Given the description of an element on the screen output the (x, y) to click on. 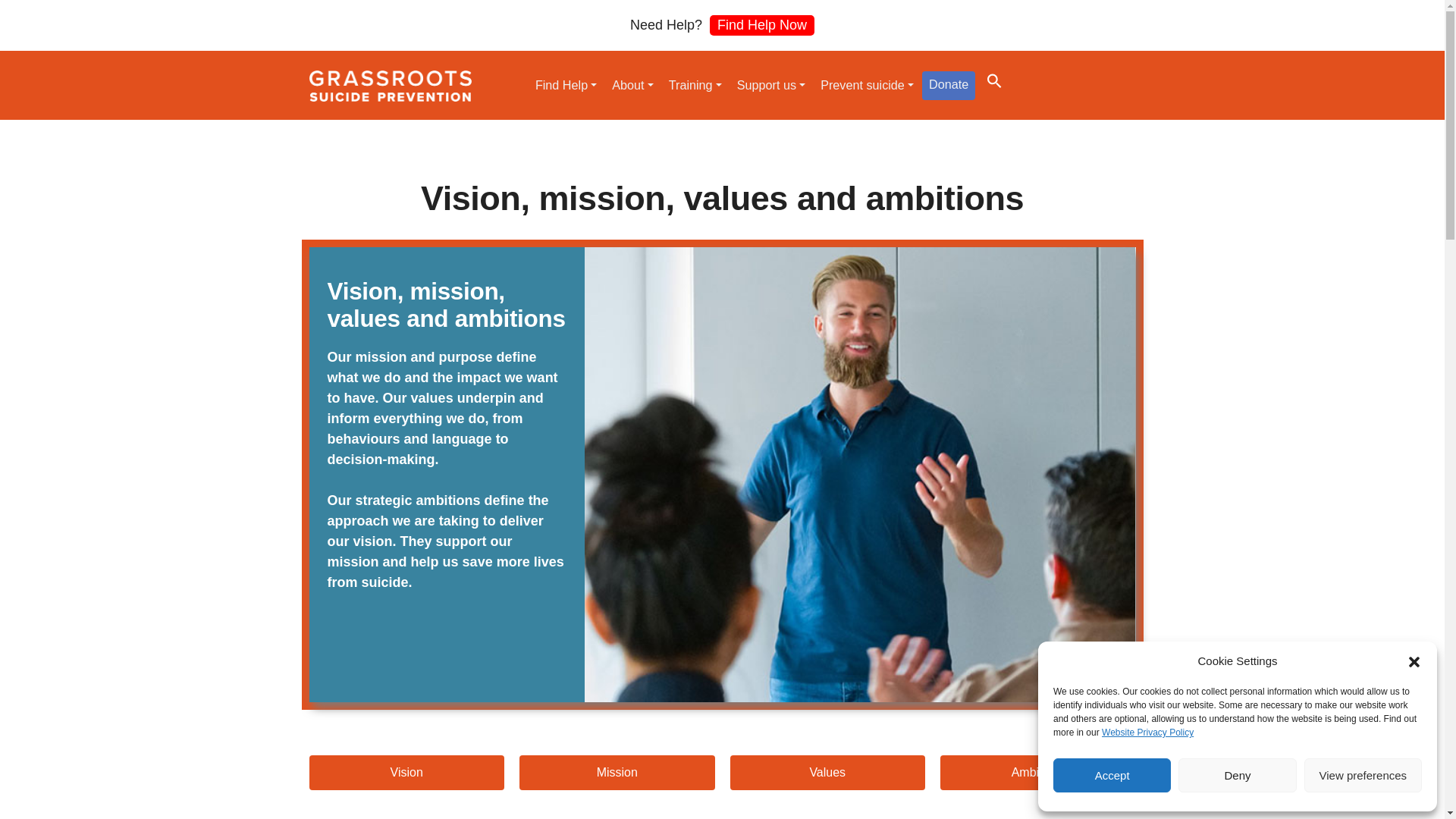
Website Privacy Policy (1147, 732)
About (632, 84)
Find Help (566, 84)
Accept (1111, 775)
View preferences (1363, 775)
Deny (1236, 775)
Find Help Now (761, 25)
About (632, 84)
Find Help (566, 84)
Training (695, 84)
